Given the description of an element on the screen output the (x, y) to click on. 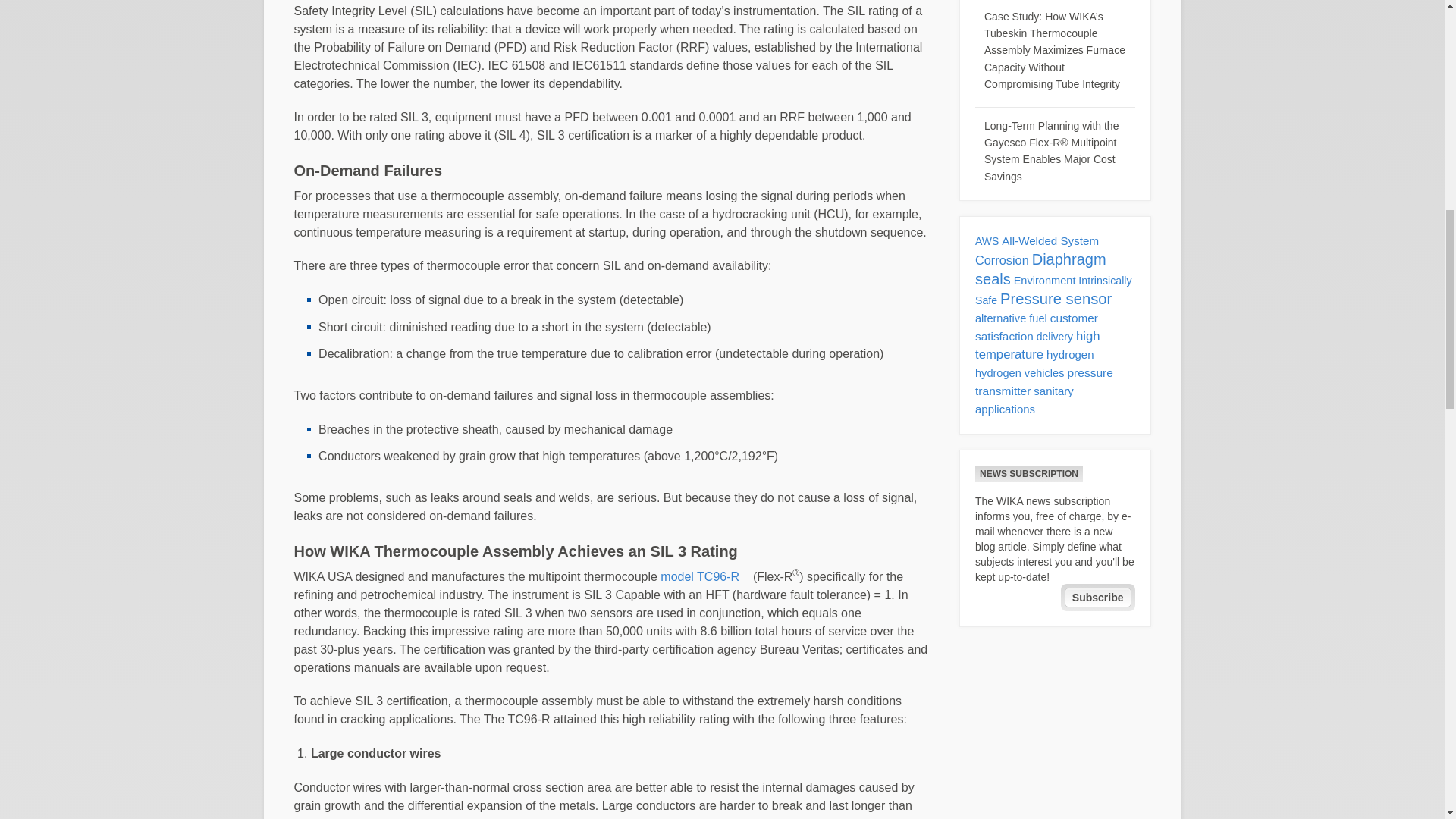
8 topics (1036, 327)
4 topics (1044, 280)
1 topic (1054, 336)
2 topics (1053, 290)
33 topics (1056, 298)
1 topic (986, 241)
6 topics (1069, 354)
13 topics (1002, 259)
15 topics (1037, 345)
4 topics (1010, 318)
4 topics (1019, 372)
32 topics (1040, 268)
7 topics (1050, 240)
